Given the description of an element on the screen output the (x, y) to click on. 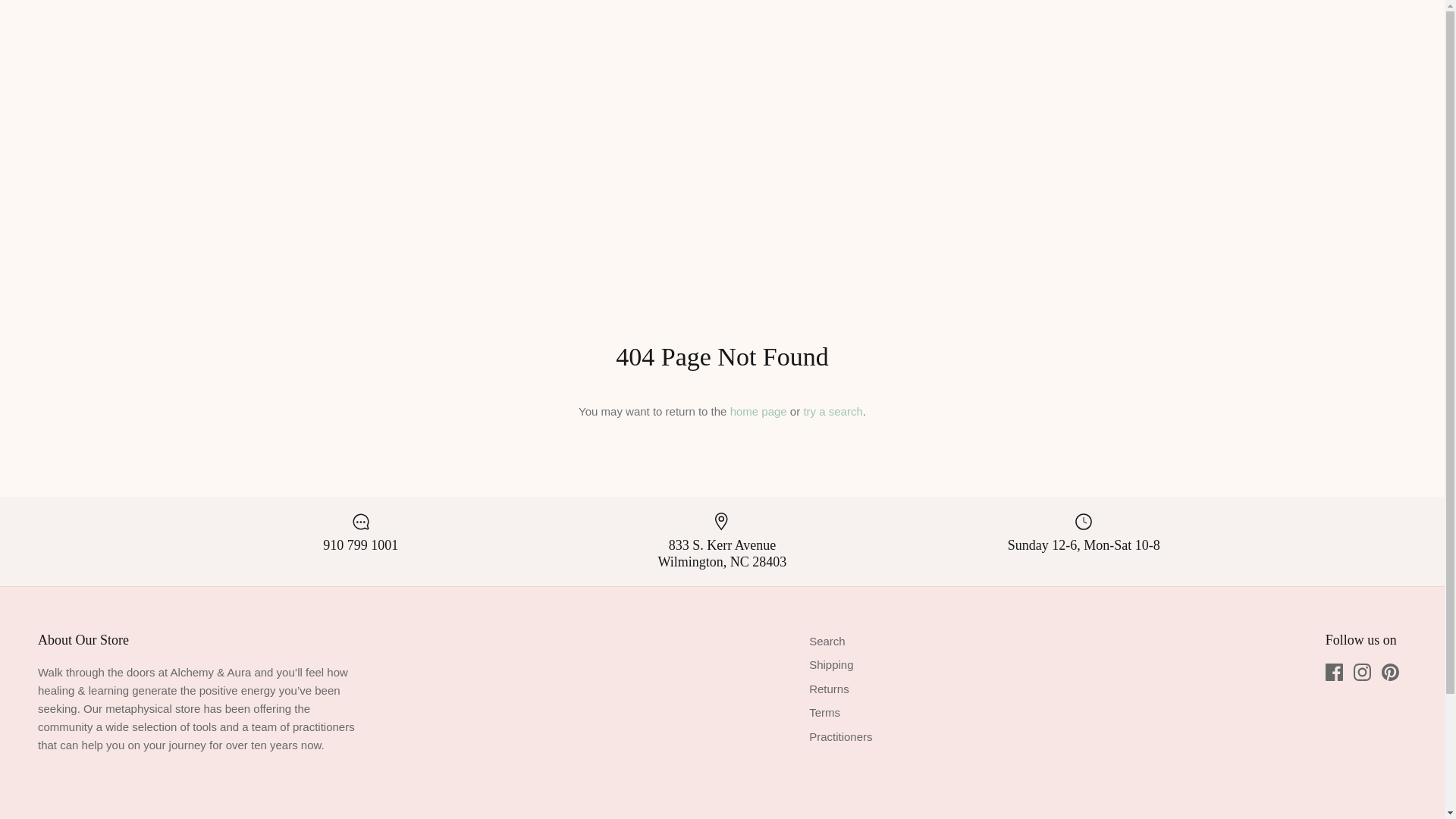
Pinterest (1390, 671)
Facebook (1333, 671)
Instagram (1362, 671)
